Given the description of an element on the screen output the (x, y) to click on. 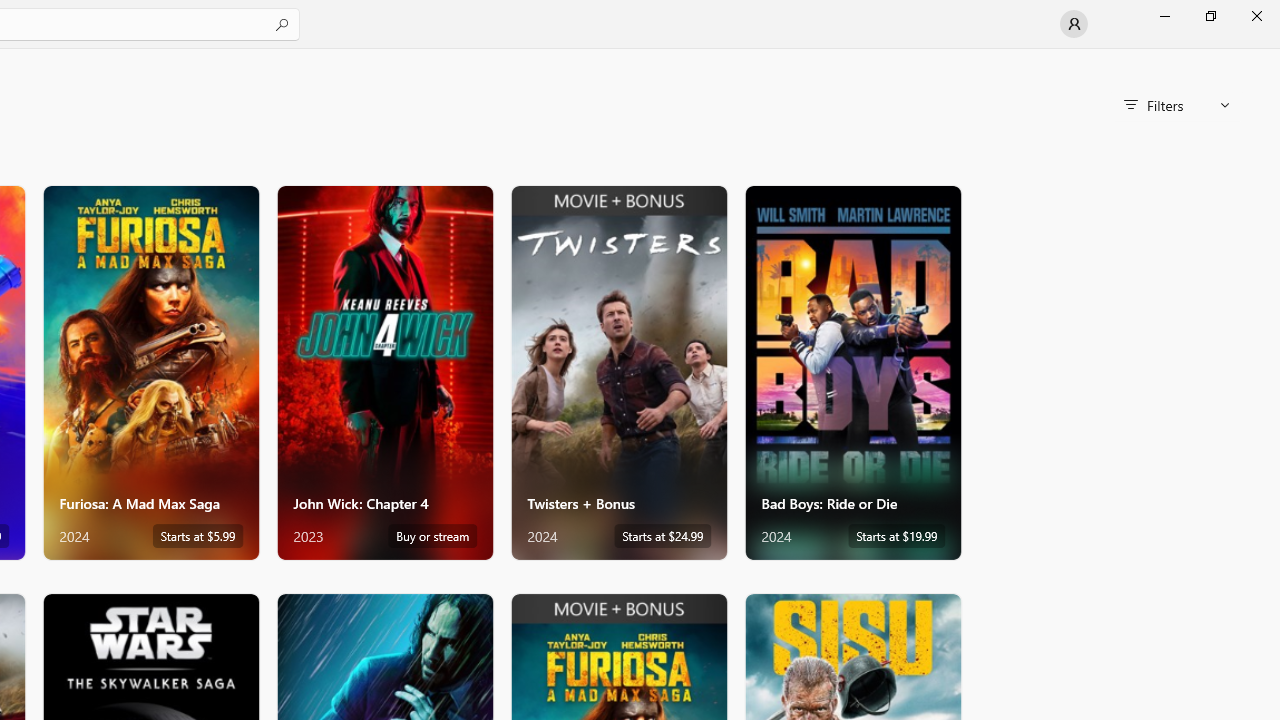
Twisters + Bonus. Starts at $24.99   (618, 372)
Filters (1176, 105)
